Given the description of an element on the screen output the (x, y) to click on. 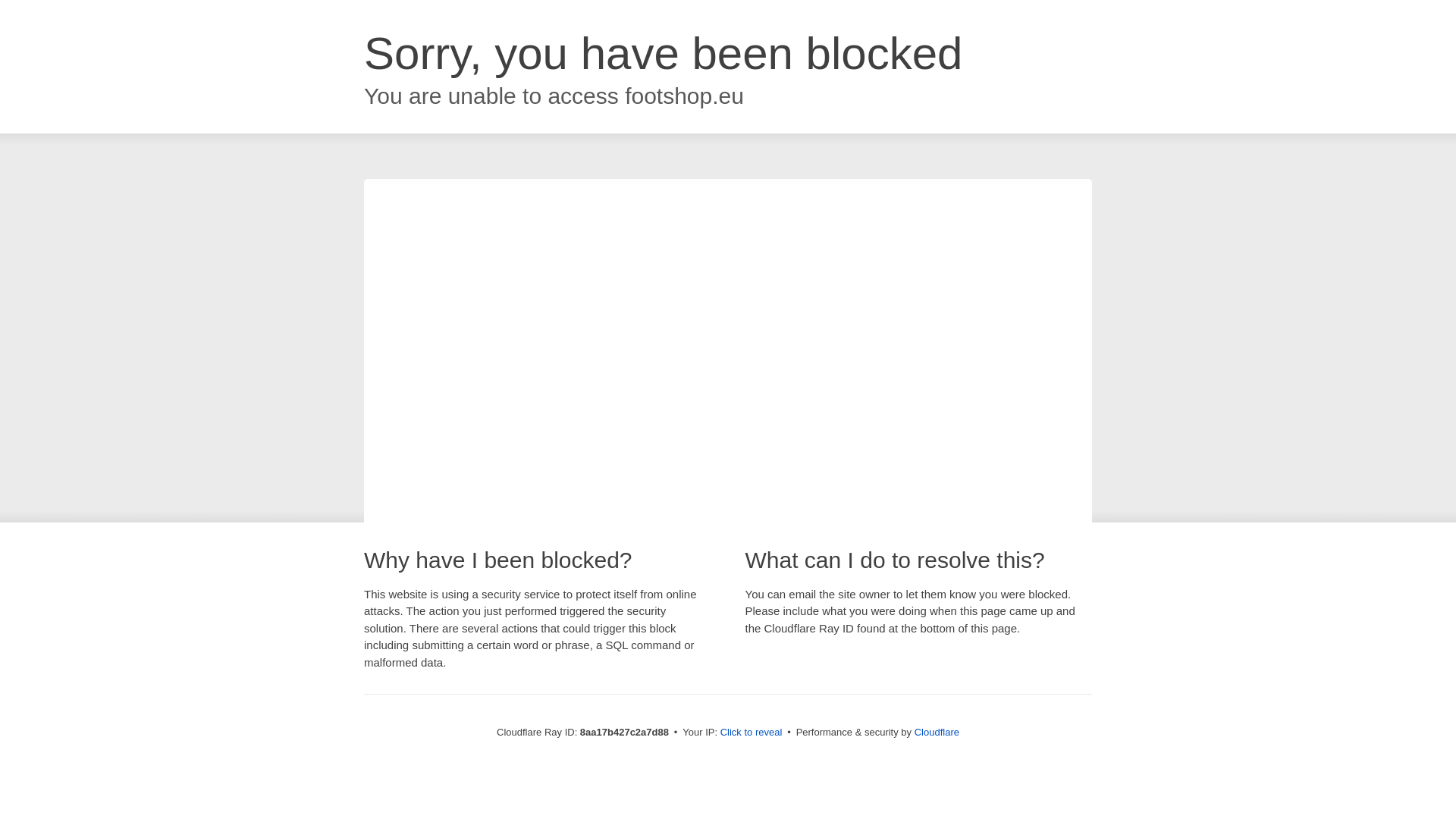
Cloudflare (936, 731)
Click to reveal (751, 732)
